Given the description of an element on the screen output the (x, y) to click on. 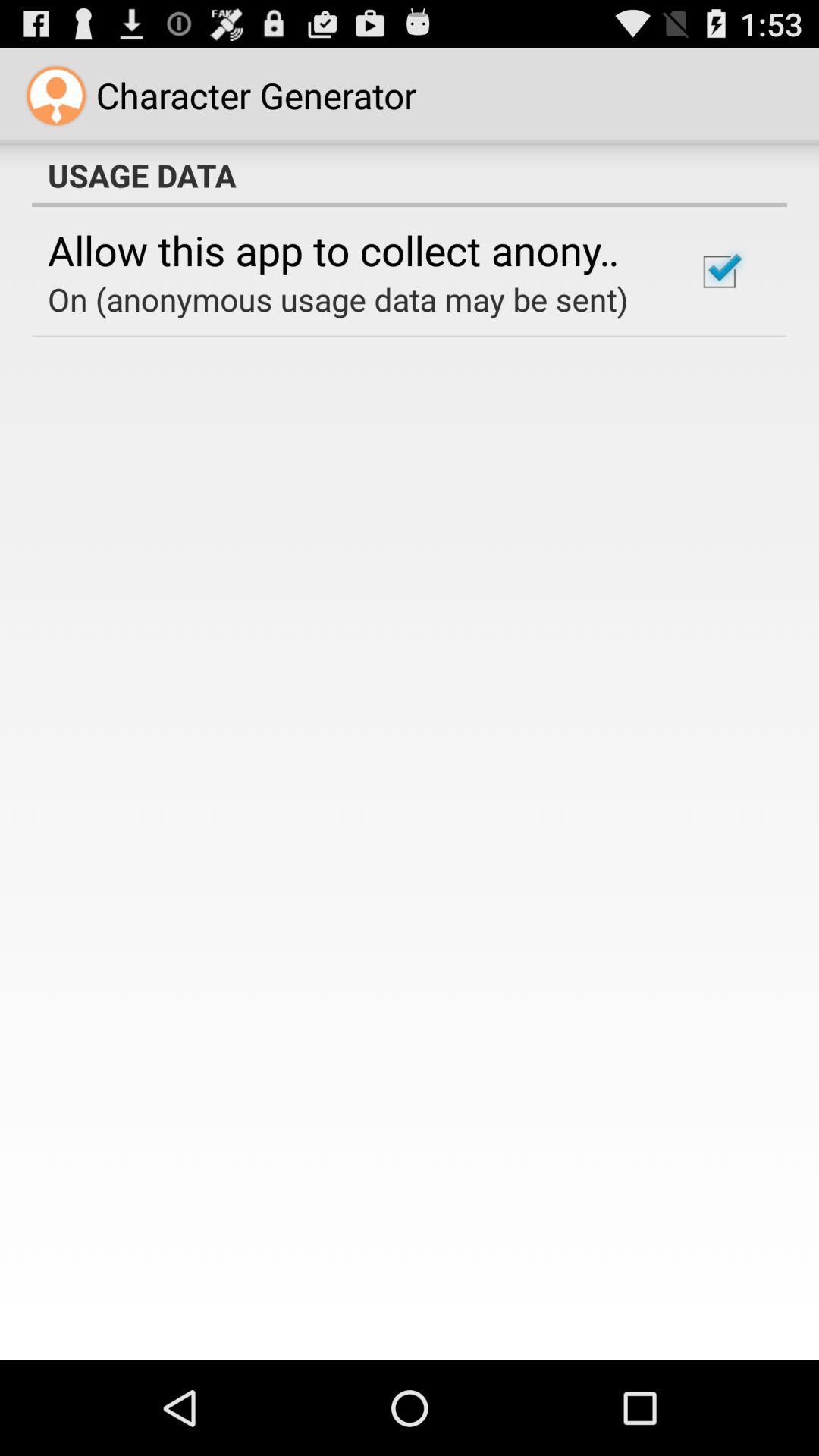
turn off the icon above the on anonymous usage (351, 249)
